Given the description of an element on the screen output the (x, y) to click on. 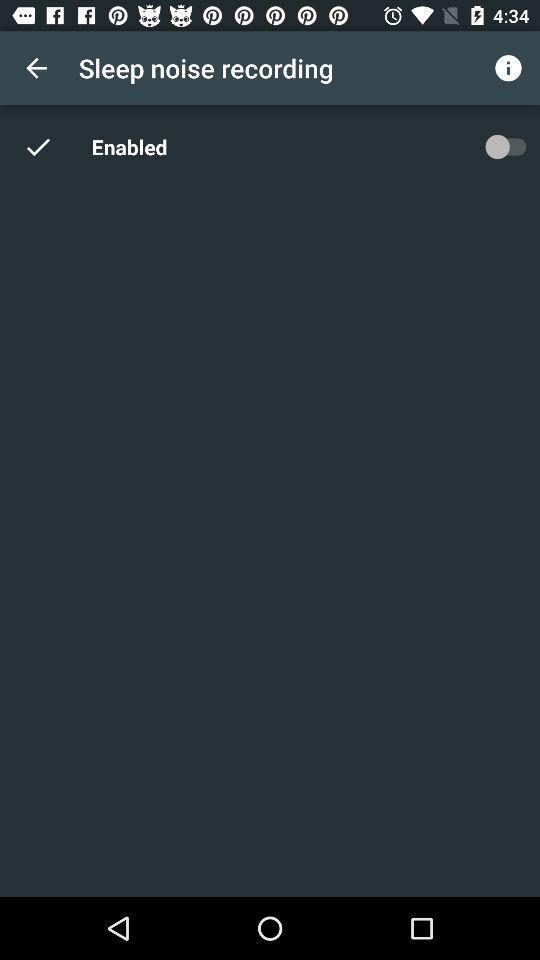
click the icon next to enabled (49, 146)
